Given the description of an element on the screen output the (x, y) to click on. 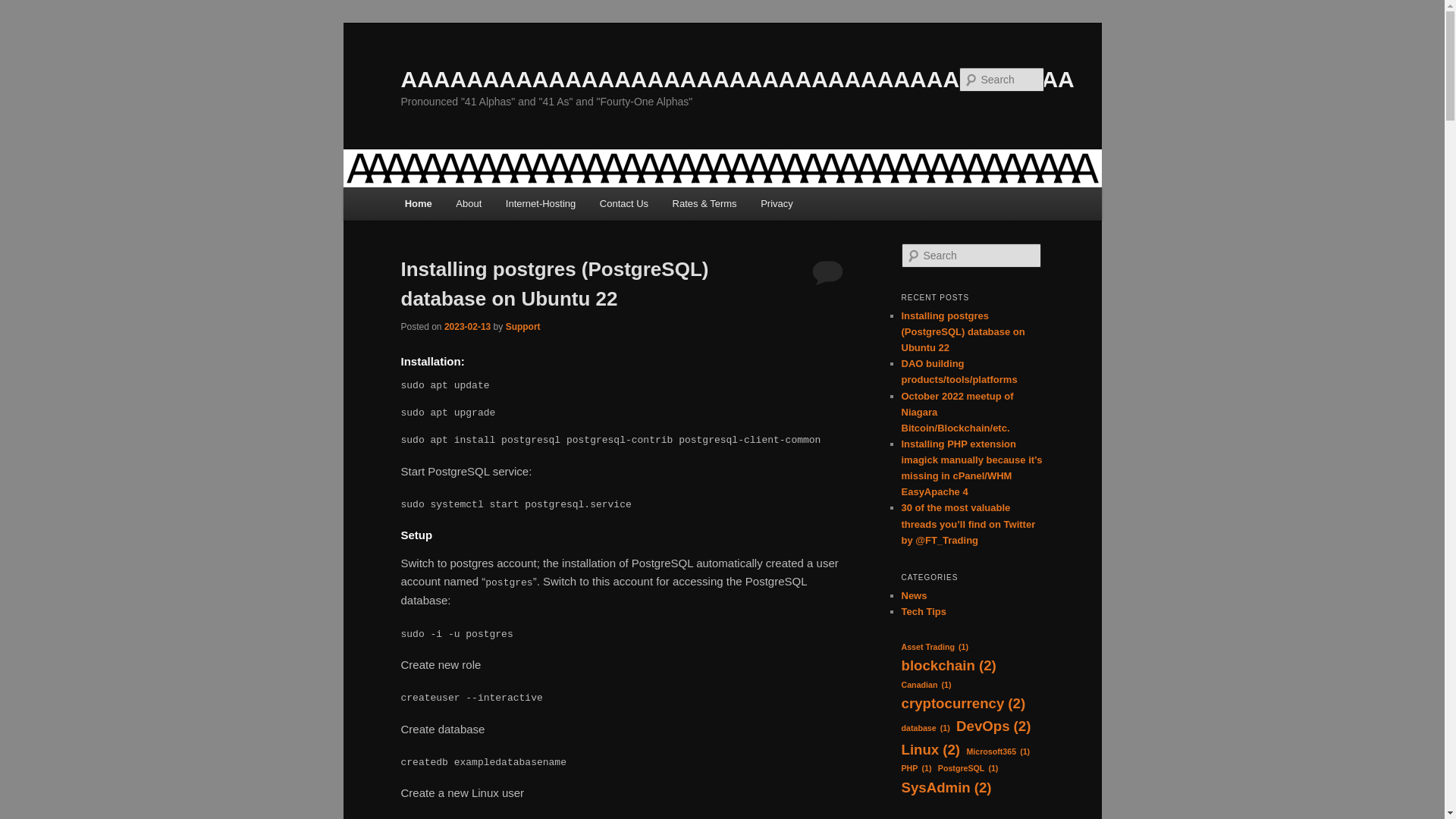
Microsoft365 (1) Element type: text (997, 751)
Internet-Hosting Element type: text (540, 203)
PHP (1) Element type: text (915, 768)
Canadian (1) Element type: text (925, 684)
PostgreSQL (1) Element type: text (968, 768)
AAAAAAAAAAAAAAAAAAAAAAAAAAAAAAAAAAAAAAAAA Element type: text (736, 78)
Rates & Terms Element type: text (704, 203)
cryptocurrency (2) Element type: text (962, 703)
Skip to primary content Element type: text (22, 22)
blockchain (2) Element type: text (947, 665)
database (1) Element type: text (924, 727)
News Element type: text (913, 595)
DAO building products/tools/platforms Element type: text (958, 371)
About Element type: text (468, 203)
Asset Trading (1) Element type: text (934, 646)
Privacy Element type: text (776, 203)
Installing postgres (PostgreSQL) database on Ubuntu 22 Element type: text (554, 283)
Linux (2) Element type: text (930, 749)
Support Element type: text (522, 326)
SysAdmin (2) Element type: text (945, 787)
Tech Tips Element type: text (922, 611)
October 2022 meetup of Niagara Bitcoin/Blockchain/etc. Element type: text (956, 411)
2023-02-13 Element type: text (467, 326)
Installing postgres (PostgreSQL) database on Ubuntu 22 Element type: text (962, 331)
Home Element type: text (418, 203)
DevOps (2) Element type: text (993, 726)
Contact Us Element type: text (623, 203)
Search Element type: text (24, 8)
Search Element type: text (20, 10)
